Given the description of an element on the screen output the (x, y) to click on. 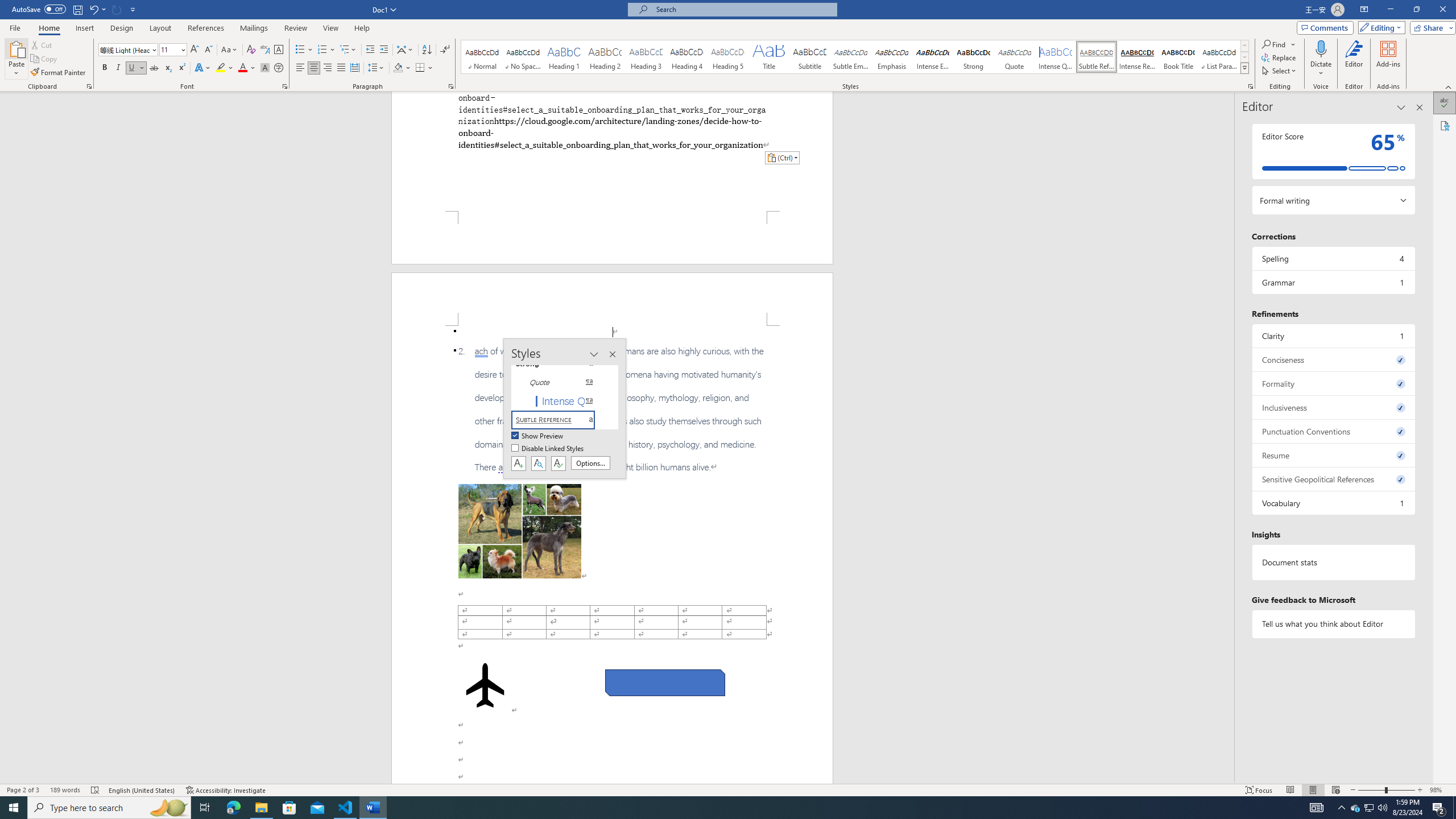
Document statistics (1333, 561)
Options... (590, 463)
Undo Paste (96, 9)
Show Preview (537, 436)
